Given the description of an element on the screen output the (x, y) to click on. 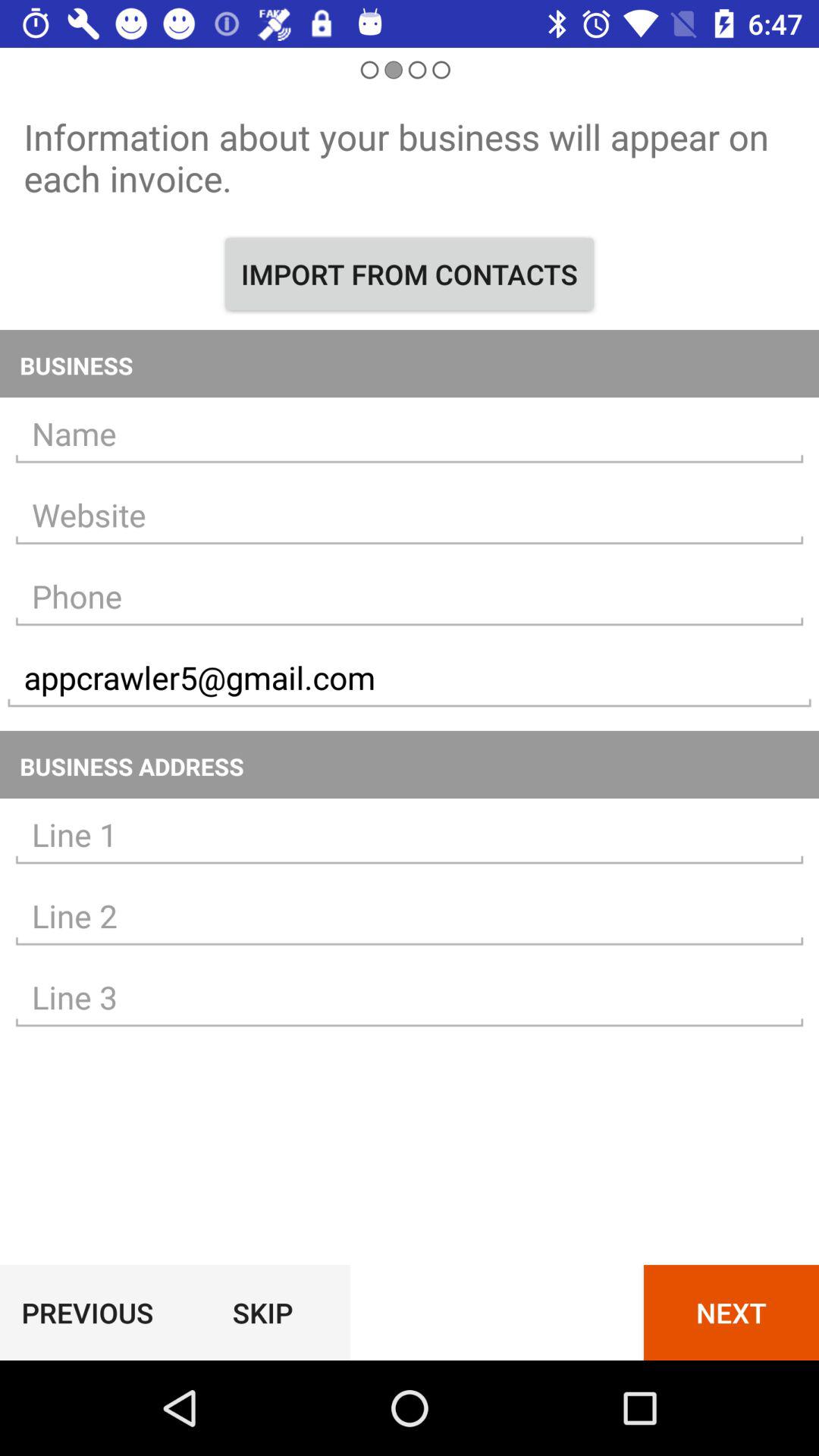
launch the import from contacts icon (409, 273)
